Given the description of an element on the screen output the (x, y) to click on. 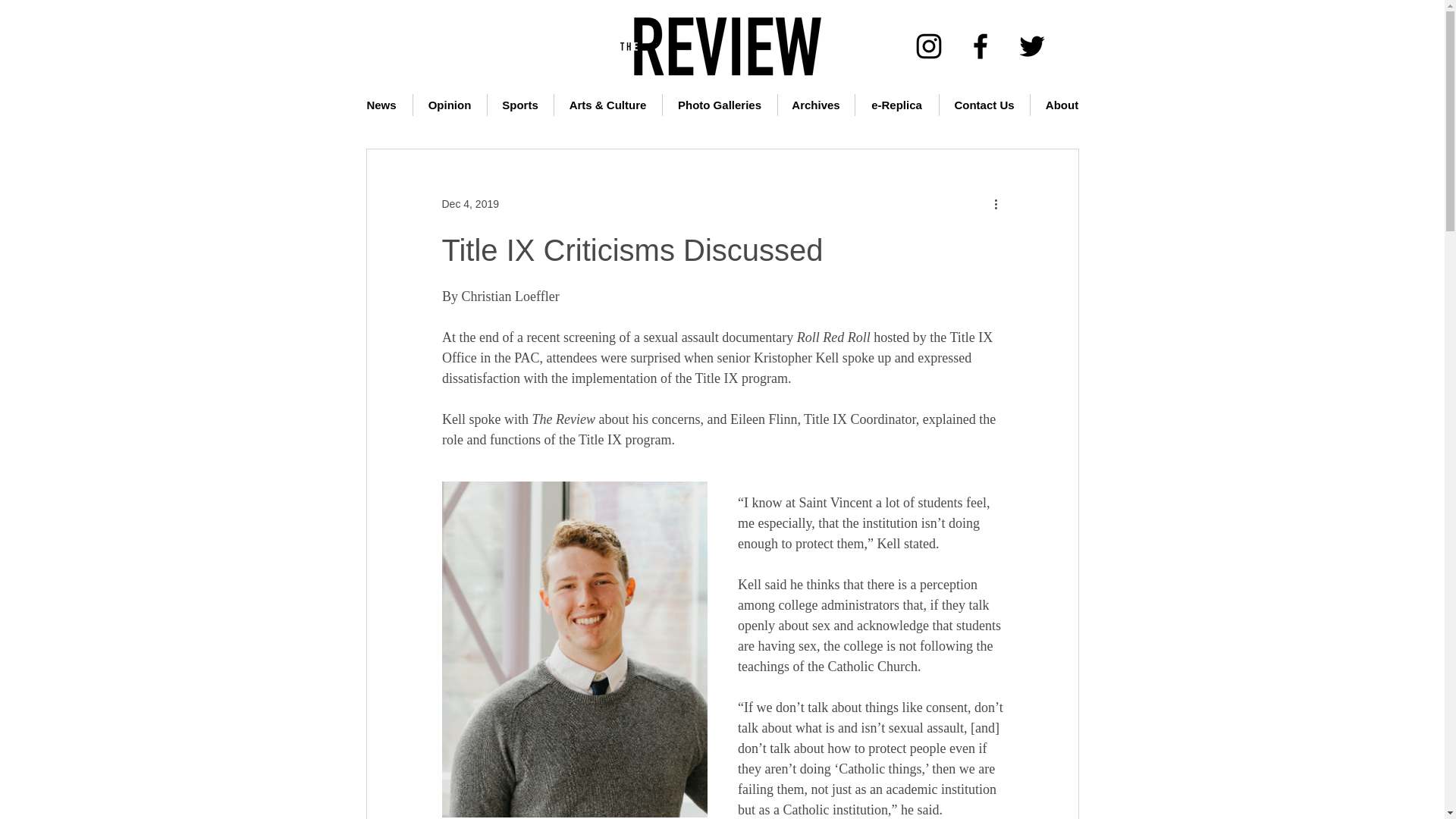
Archives (815, 105)
e-Replica (897, 105)
Sports (519, 105)
Contact Us (984, 105)
Dec 4, 2019 (470, 203)
Opinion (449, 105)
News (381, 105)
About (1061, 105)
Photo Galleries (719, 105)
